Given the description of an element on the screen output the (x, y) to click on. 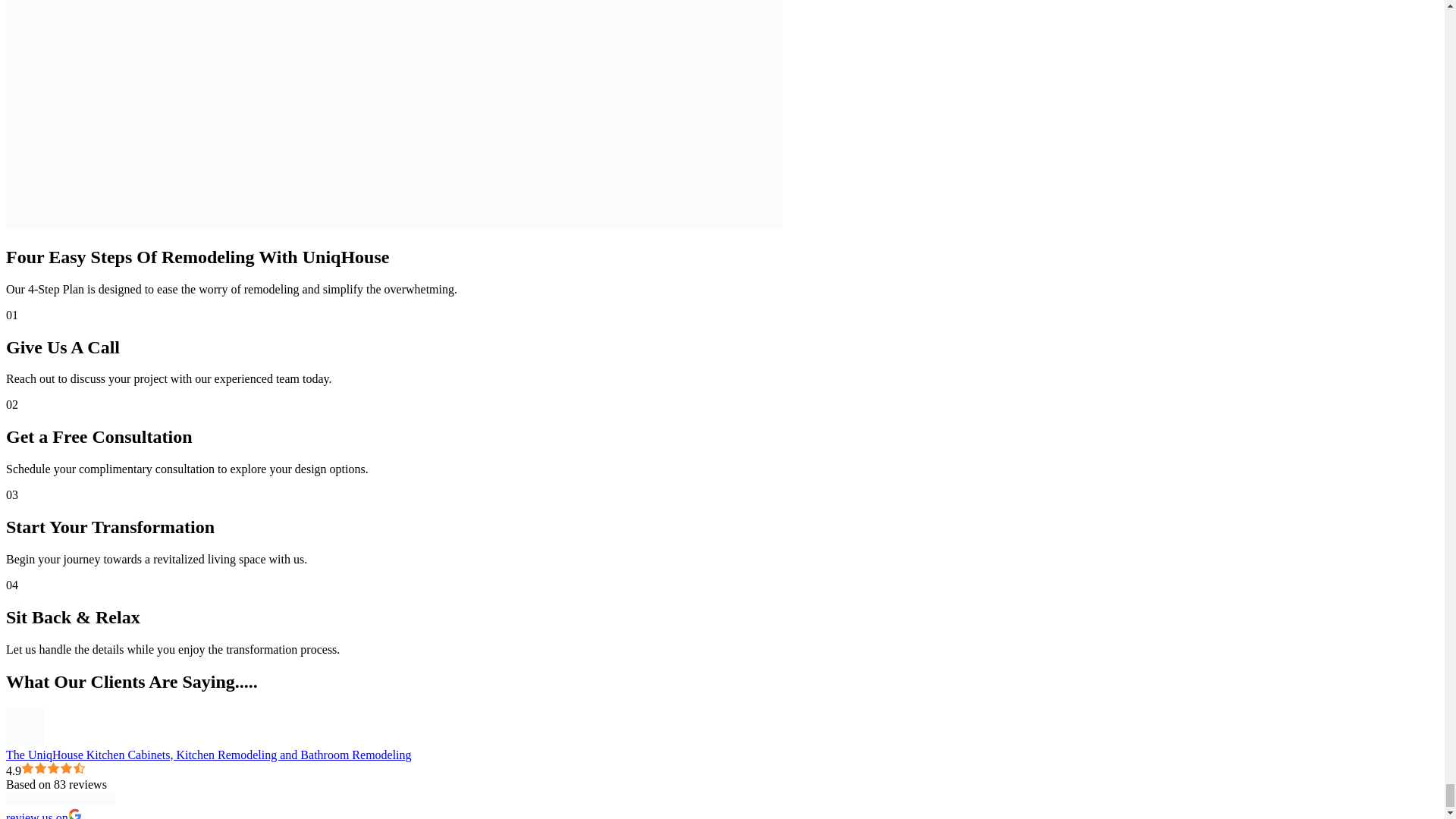
powered by Google (60, 798)
